Given the description of an element on the screen output the (x, y) to click on. 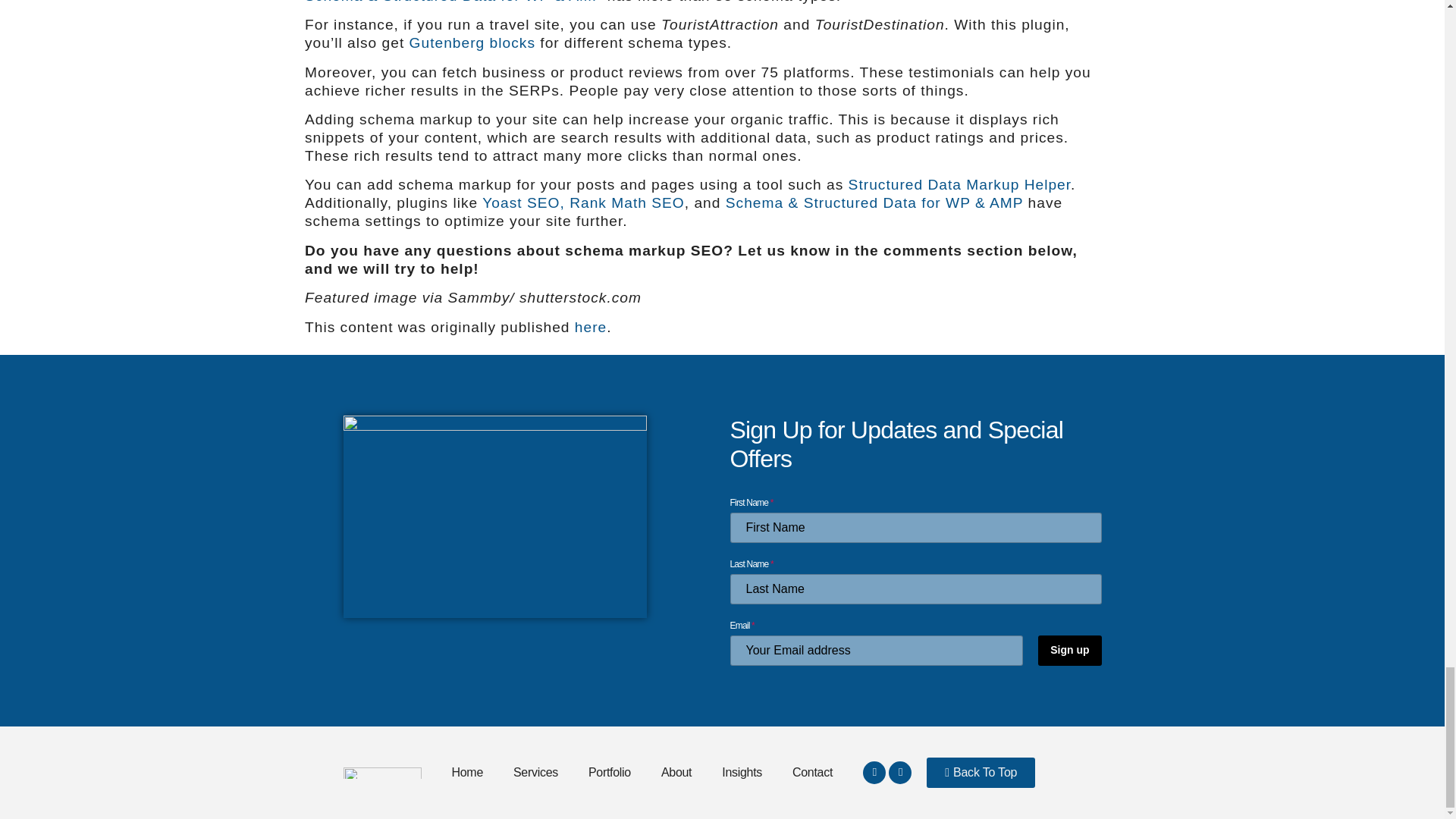
Gutenberg blocks (472, 42)
